Given the description of an element on the screen output the (x, y) to click on. 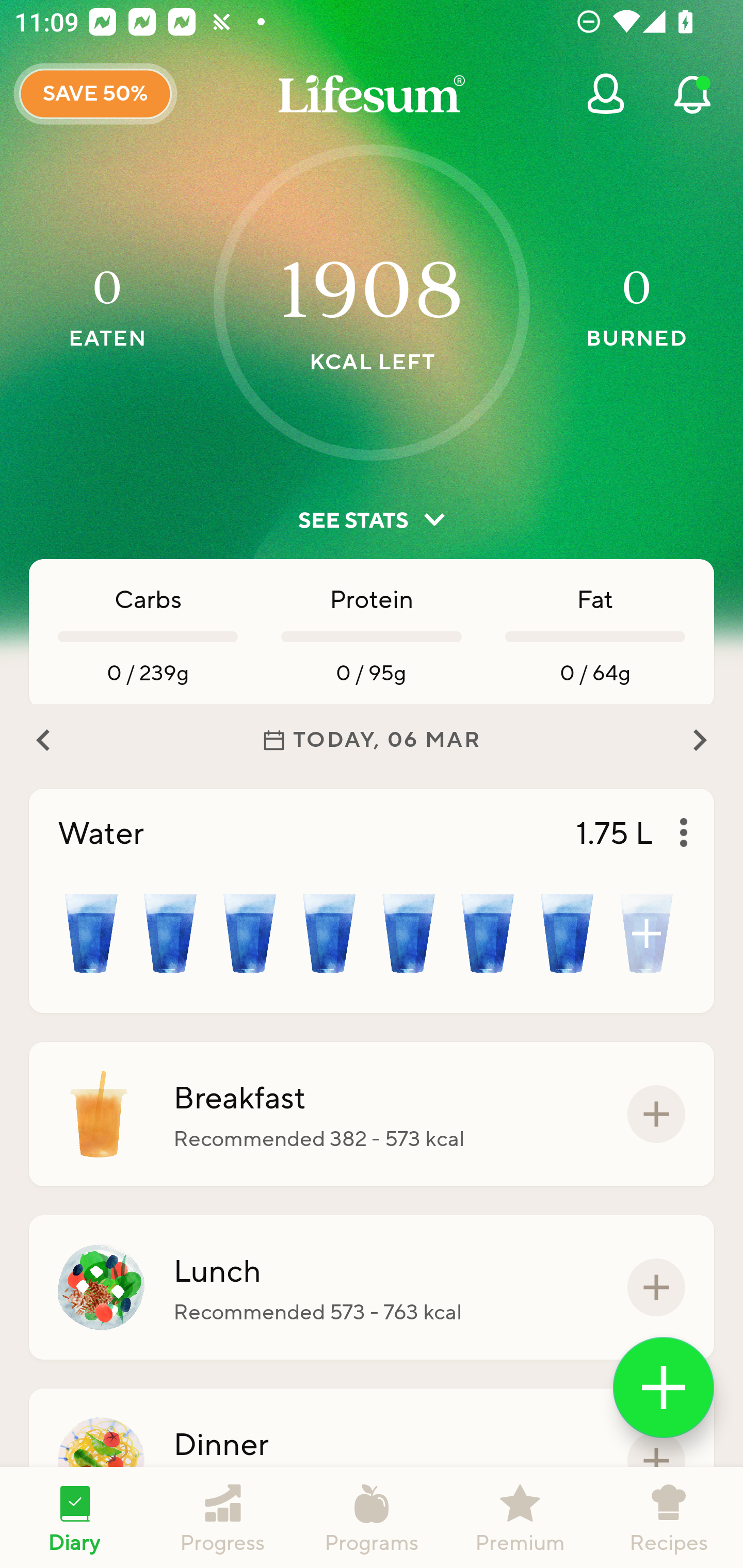
SEE STATS (371, 519)
TODAY, 06 MAR (371, 739)
Breakfast Recommended 382 - 573 kcal (371, 1113)
Lunch Recommended 573 - 763 kcal (371, 1287)
Dinner Recommended 573 - 763 kcal (371, 1461)
Progress (222, 1517)
Programs (371, 1517)
Premium (519, 1517)
Recipes (668, 1517)
